Given the description of an element on the screen output the (x, y) to click on. 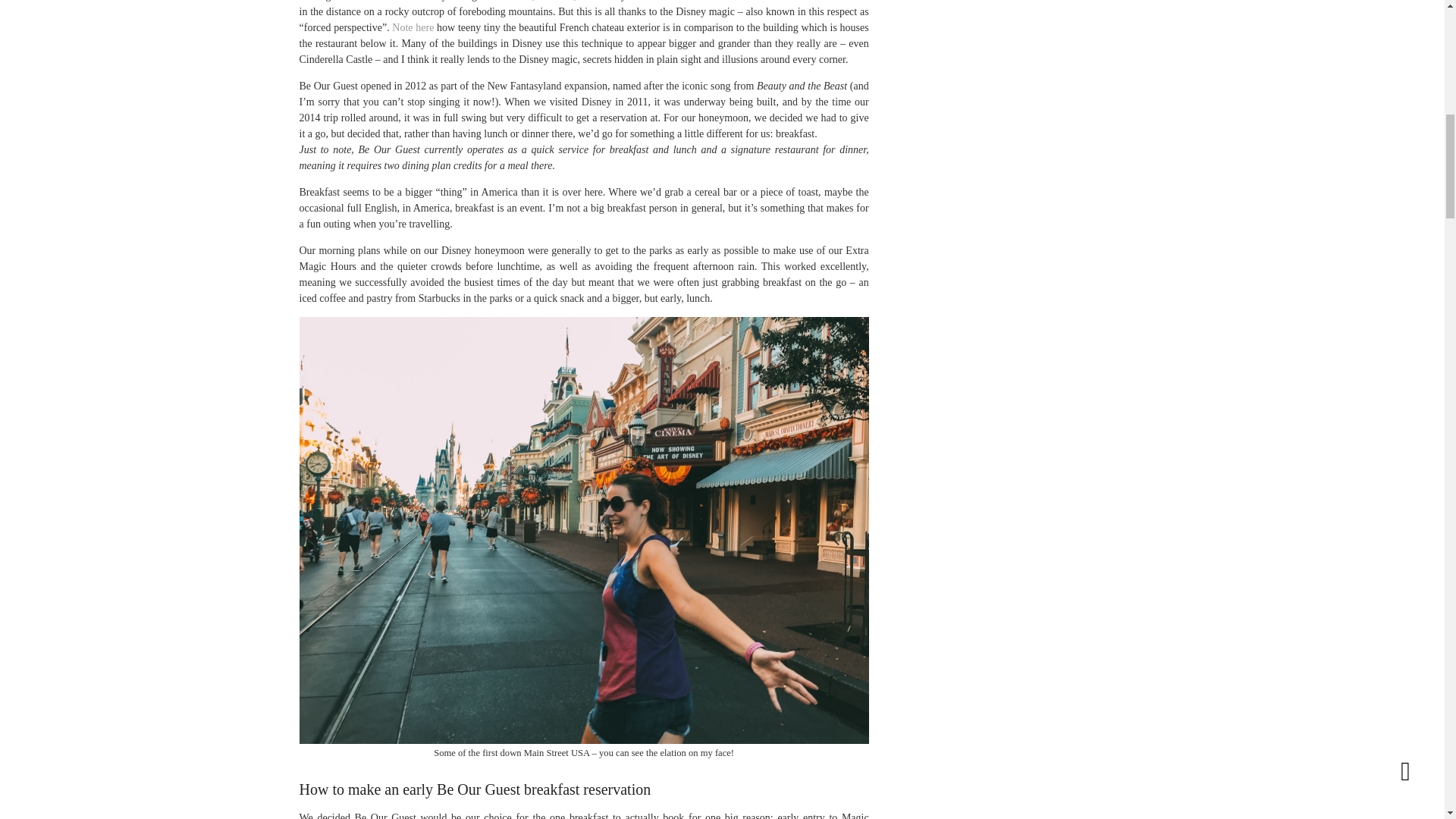
Note here (412, 27)
